Given the description of an element on the screen output the (x, y) to click on. 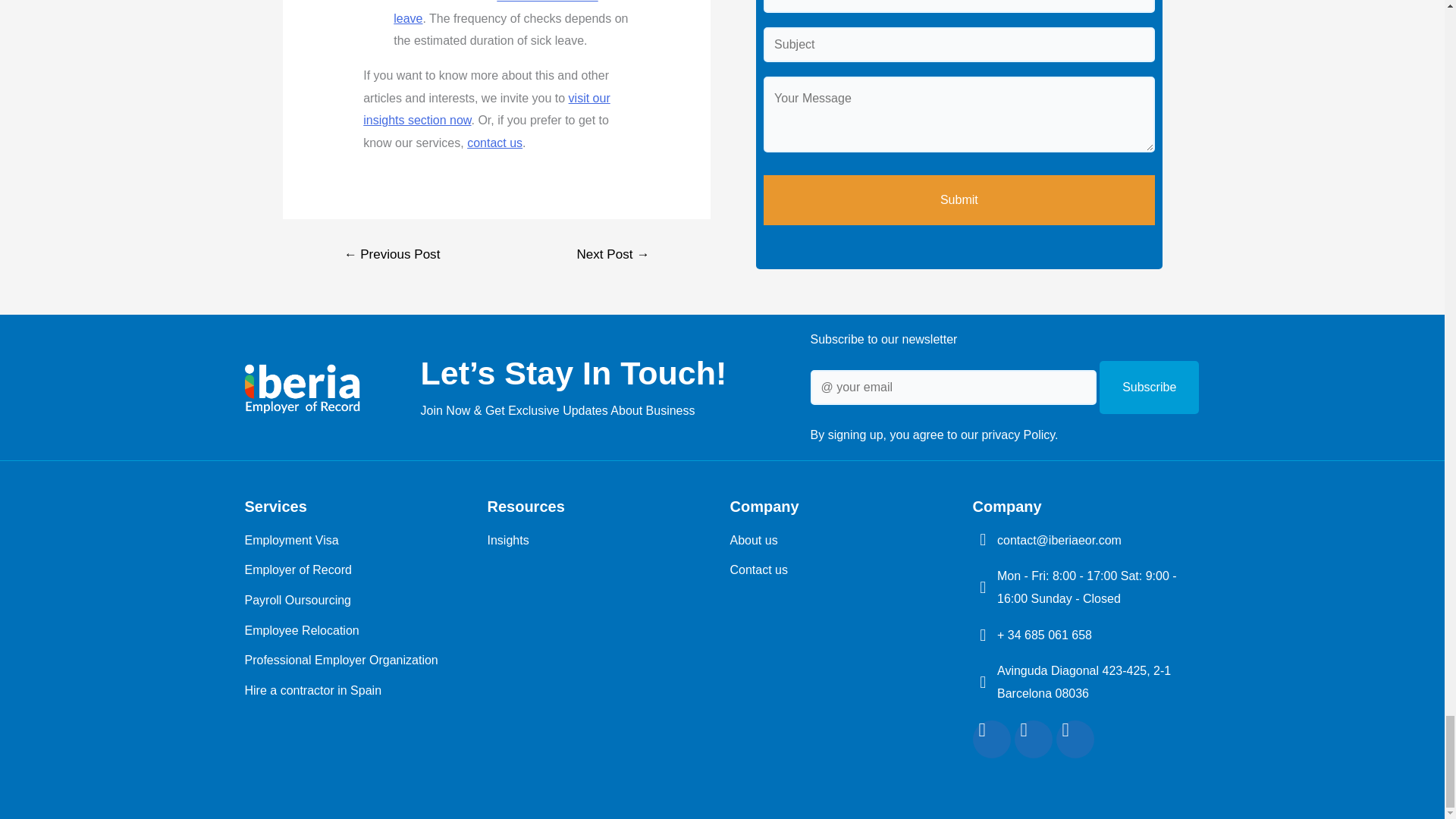
contact us (494, 142)
Subscribe (1148, 387)
Payroll Oursourcing (357, 599)
Subscribe (1148, 387)
termination on sick leave (494, 12)
Employee Relocation (357, 630)
visit our insights section now (486, 109)
Employment Visa (357, 540)
Employer of Record (357, 569)
